Given the description of an element on the screen output the (x, y) to click on. 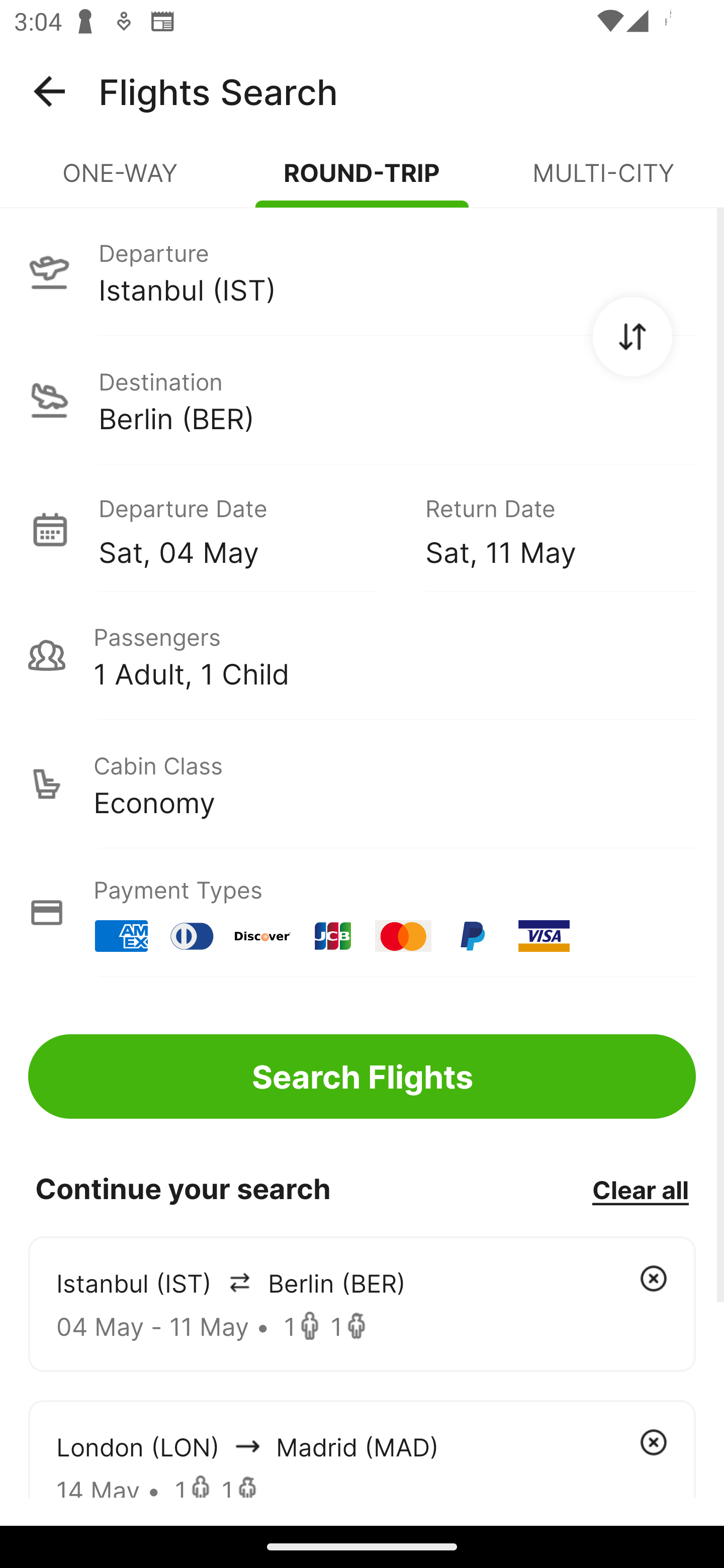
ONE-WAY (120, 180)
ROUND-TRIP (361, 180)
MULTI-CITY (603, 180)
Departure Istanbul (IST) (362, 270)
Destination Berlin (BER) (362, 400)
Departure Date Sat, 04 May (247, 528)
Return Date Sat, 11 May (546, 528)
Passengers 1 Adult, 1 Child (362, 655)
Cabin Class Economy (362, 783)
Payment Types (362, 912)
Search Flights (361, 1075)
Clear all (640, 1189)
